Given the description of an element on the screen output the (x, y) to click on. 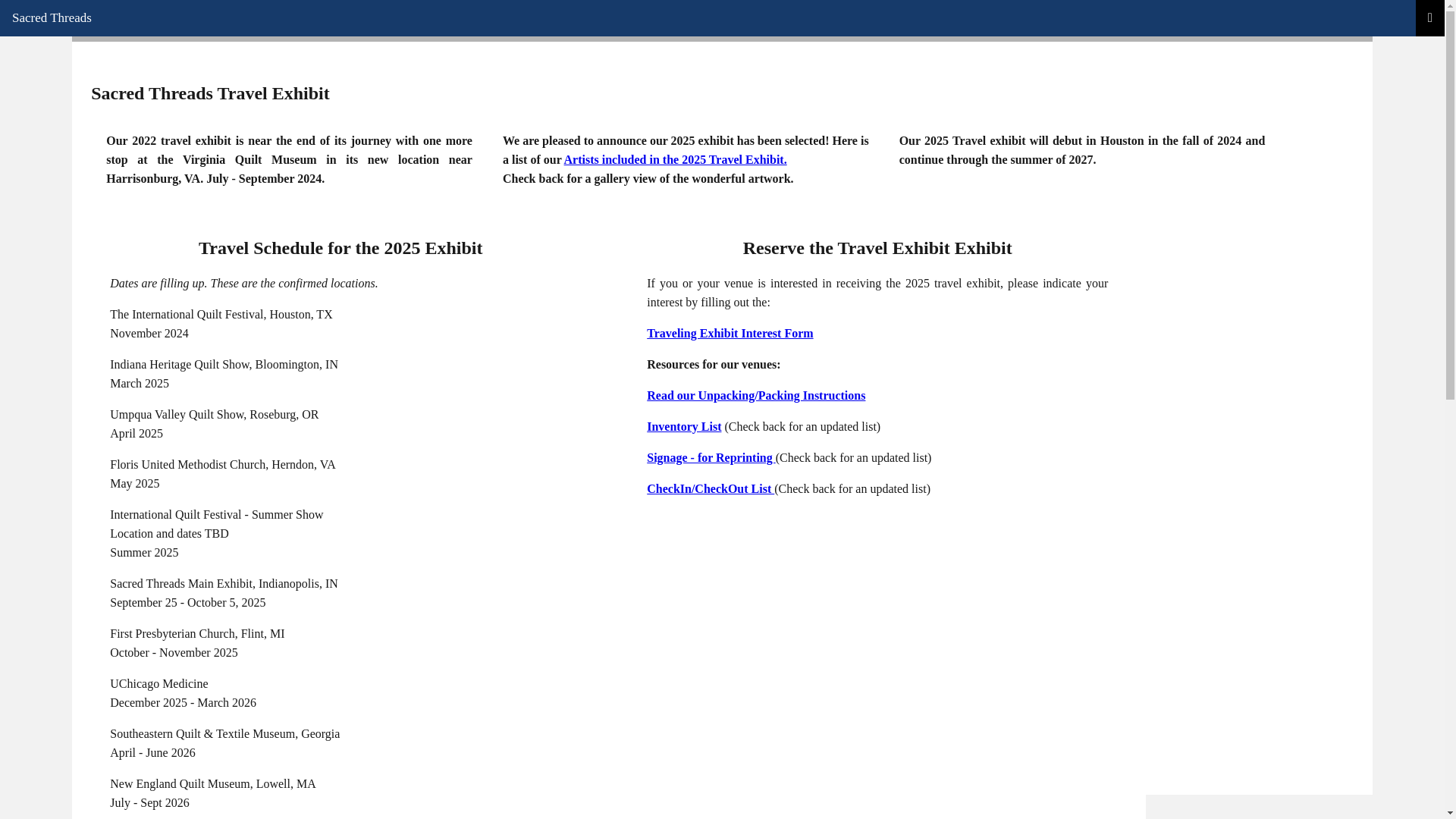
Inventory List (683, 426)
Traveling Exhibit Interest Form (729, 332)
Artists included in the 2025 Travel Exhibit. (675, 159)
Signage - for Reprinting (710, 457)
